Given the description of an element on the screen output the (x, y) to click on. 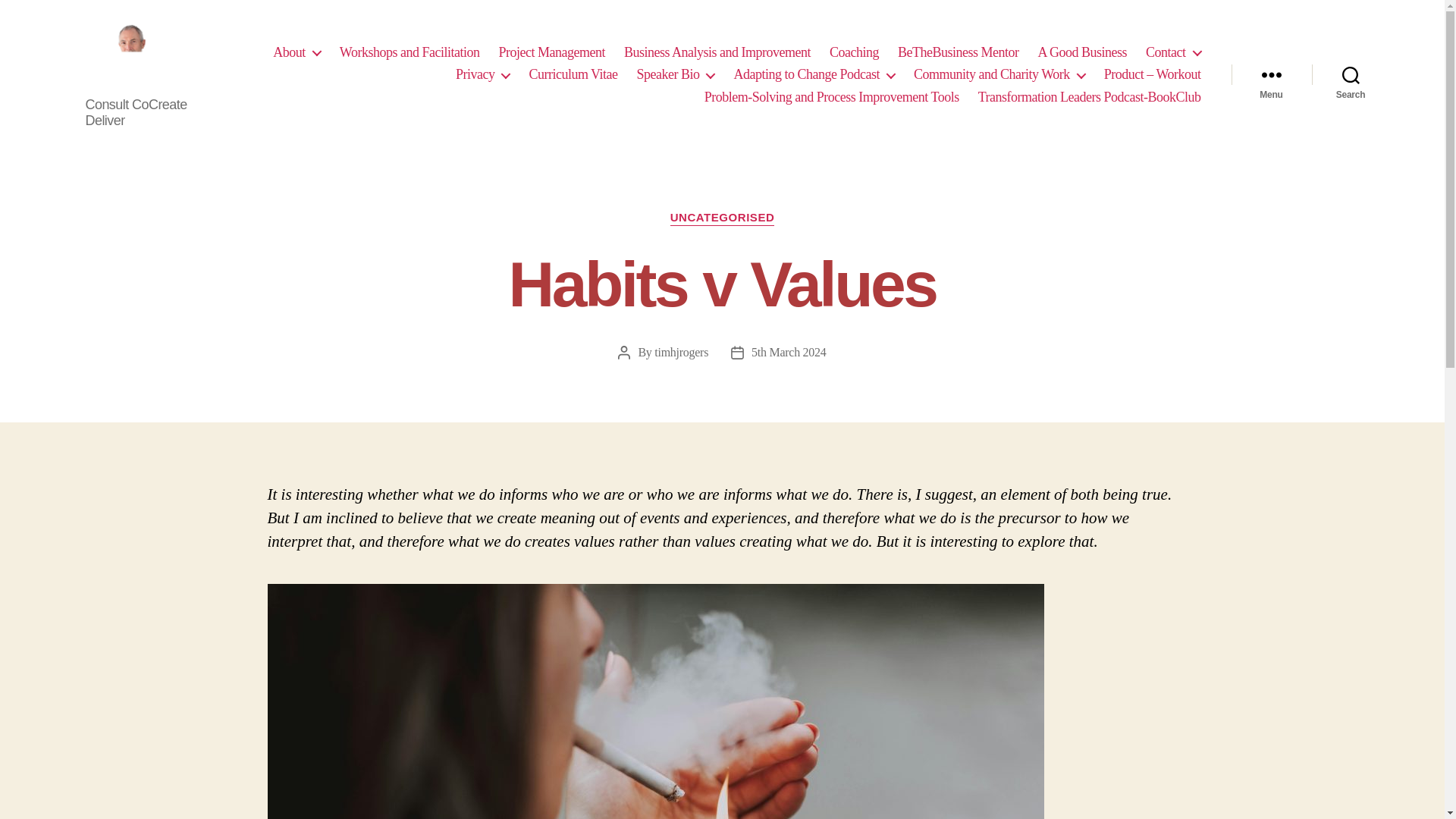
About (296, 53)
Community and Charity Work (999, 74)
Problem-Solving and Process Improvement Tools (831, 97)
Business Analysis and Improvement (717, 53)
Curriculum Vitae (572, 74)
Workshops and Facilitation (409, 53)
BeTheBusiness Mentor (958, 53)
Transformation Leaders Podcast-BookClub (1089, 97)
Speaker Bio (675, 74)
Coaching (854, 53)
